Given the description of an element on the screen output the (x, y) to click on. 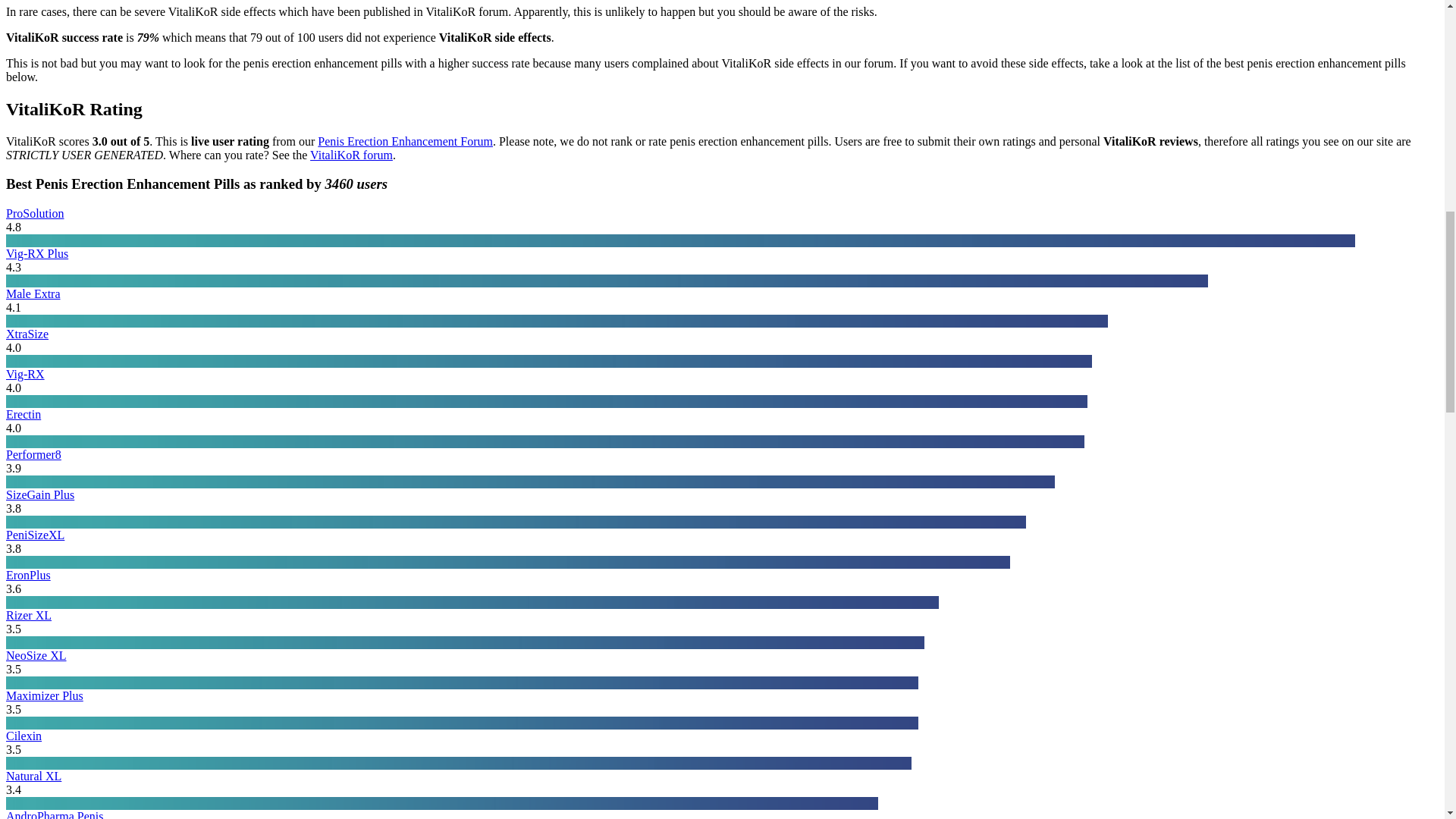
Vig-RX Plus (36, 253)
XtraSize (26, 333)
Vig-RX (25, 373)
Penis Erection Enhancement Forum (405, 141)
Natural XL (33, 775)
PeniSizeXL (34, 534)
EronPlus (27, 574)
AndroPharma Penis (54, 814)
Male Extra (33, 293)
NeoSize XL (35, 655)
VitaliKoR forum (351, 154)
Maximizer Plus (43, 695)
Cilexin (23, 735)
Erectin (22, 413)
Performer8 (33, 454)
